Given the description of an element on the screen output the (x, y) to click on. 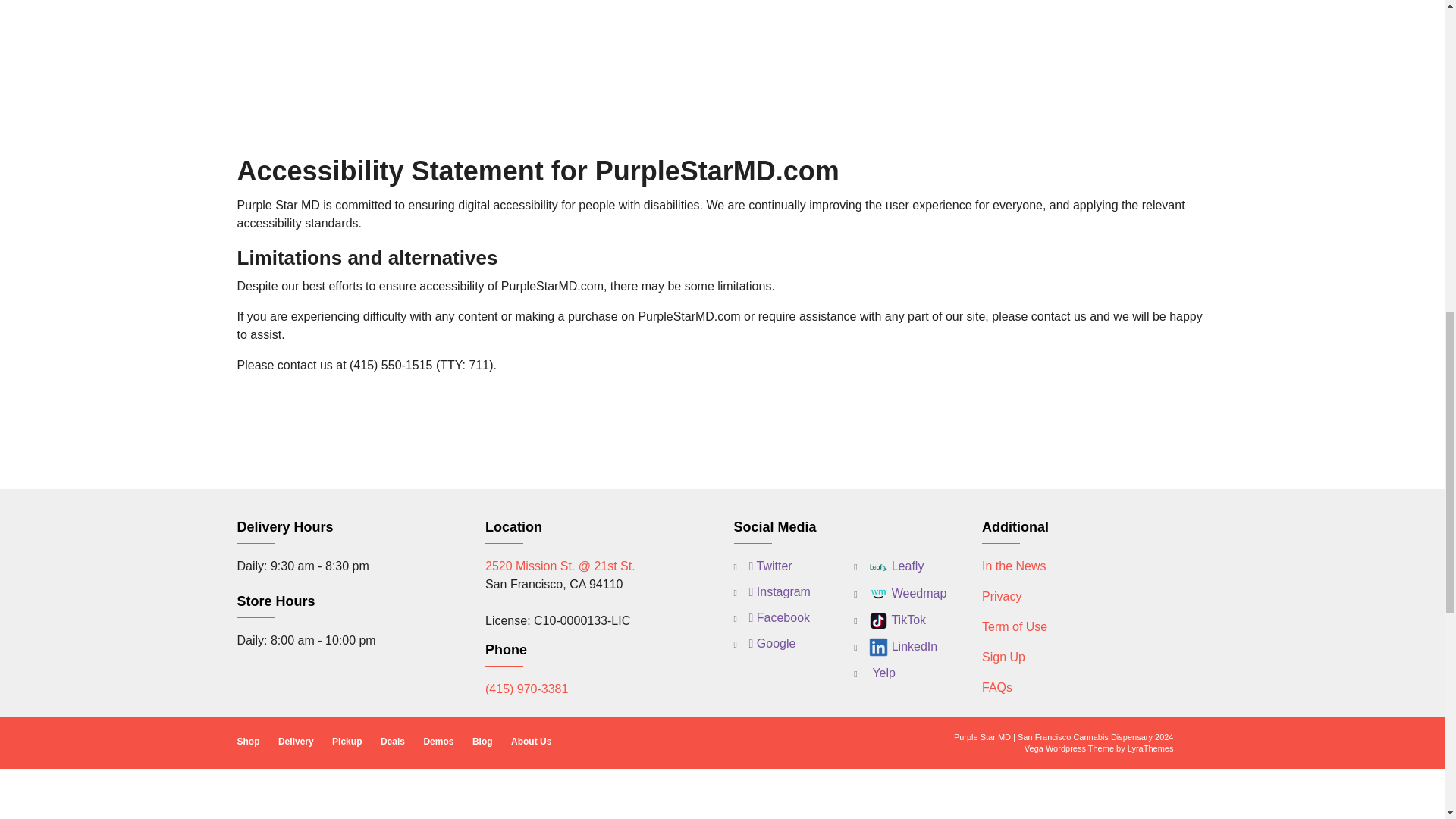
TikTok (889, 619)
About Us (531, 741)
Privacy (1001, 595)
LinkedIn (895, 647)
Sign Up (1003, 656)
Term of Use (1013, 626)
Blog (482, 741)
Leafly (888, 566)
Demos (437, 741)
In the News (1013, 565)
Instagram (771, 592)
Shop (247, 741)
FAQs (996, 686)
Google (764, 643)
